Given the description of an element on the screen output the (x, y) to click on. 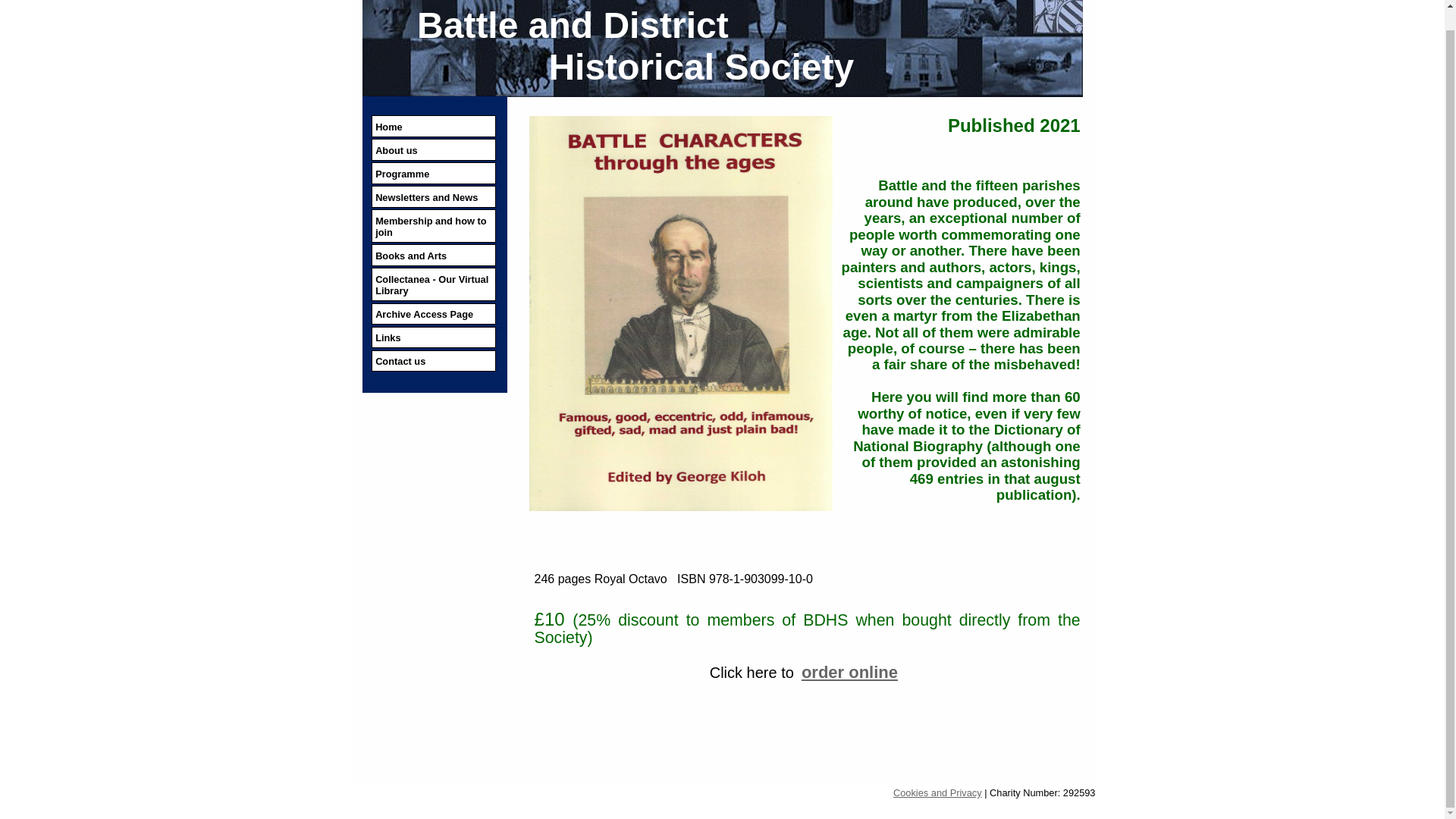
Cookies and Privacy (937, 792)
Membership and how to join (432, 225)
Contact us (432, 361)
About us (432, 149)
Archive Access Page (432, 313)
Newsletters and News (432, 196)
Programme (432, 172)
Programme (432, 172)
Collectanea - Our Virtual Library (432, 284)
Archive Access Page (432, 313)
Newsletters and News (432, 196)
Home (432, 126)
order online (850, 671)
Books and Arts (432, 254)
Home (432, 126)
